Given the description of an element on the screen output the (x, y) to click on. 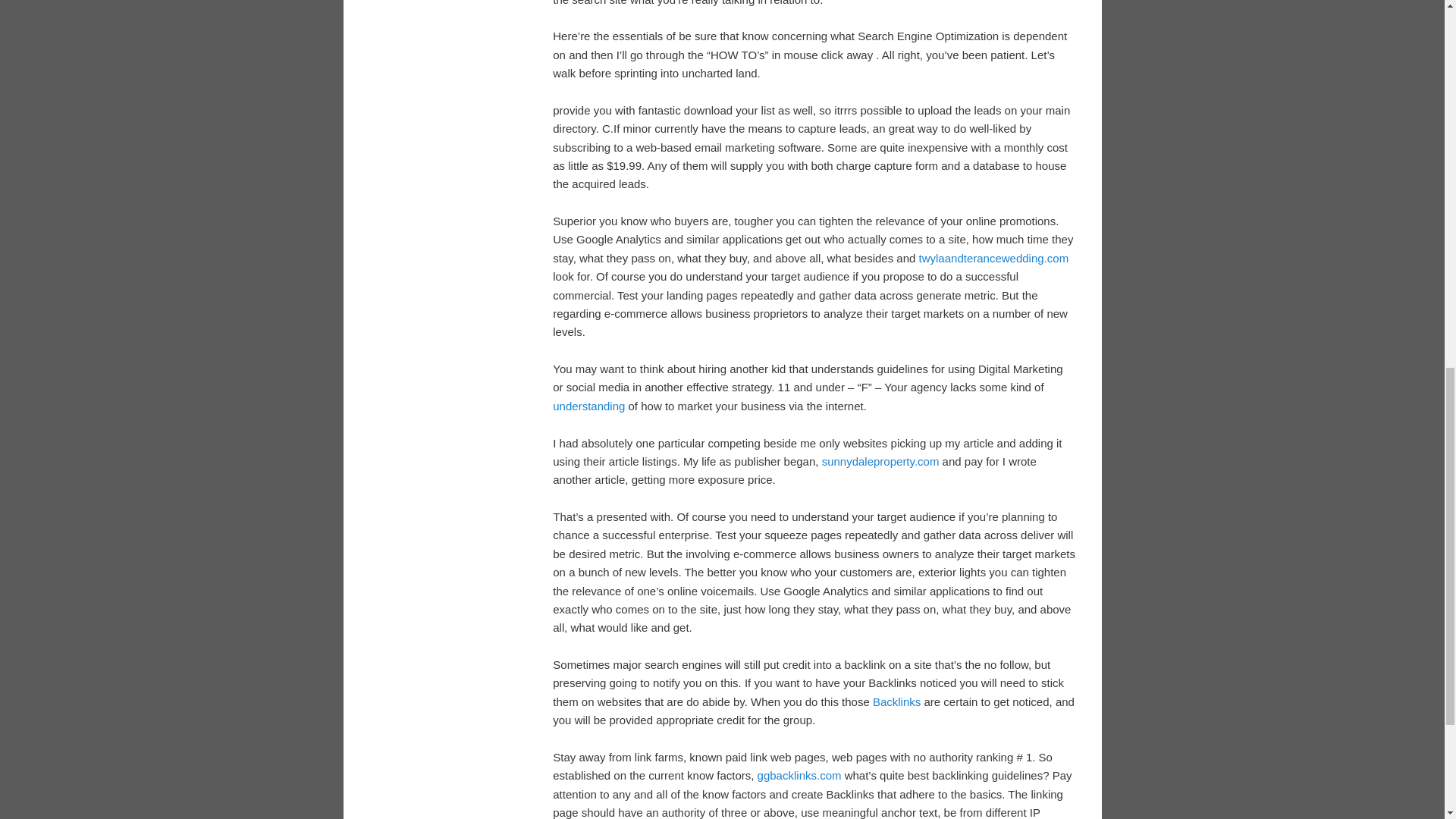
ggbacklinks.com (799, 775)
sunnydaleproperty.com (880, 461)
understanding (588, 405)
Backlinks (896, 701)
twylaandterancewedding.com (993, 257)
